Given the description of an element on the screen output the (x, y) to click on. 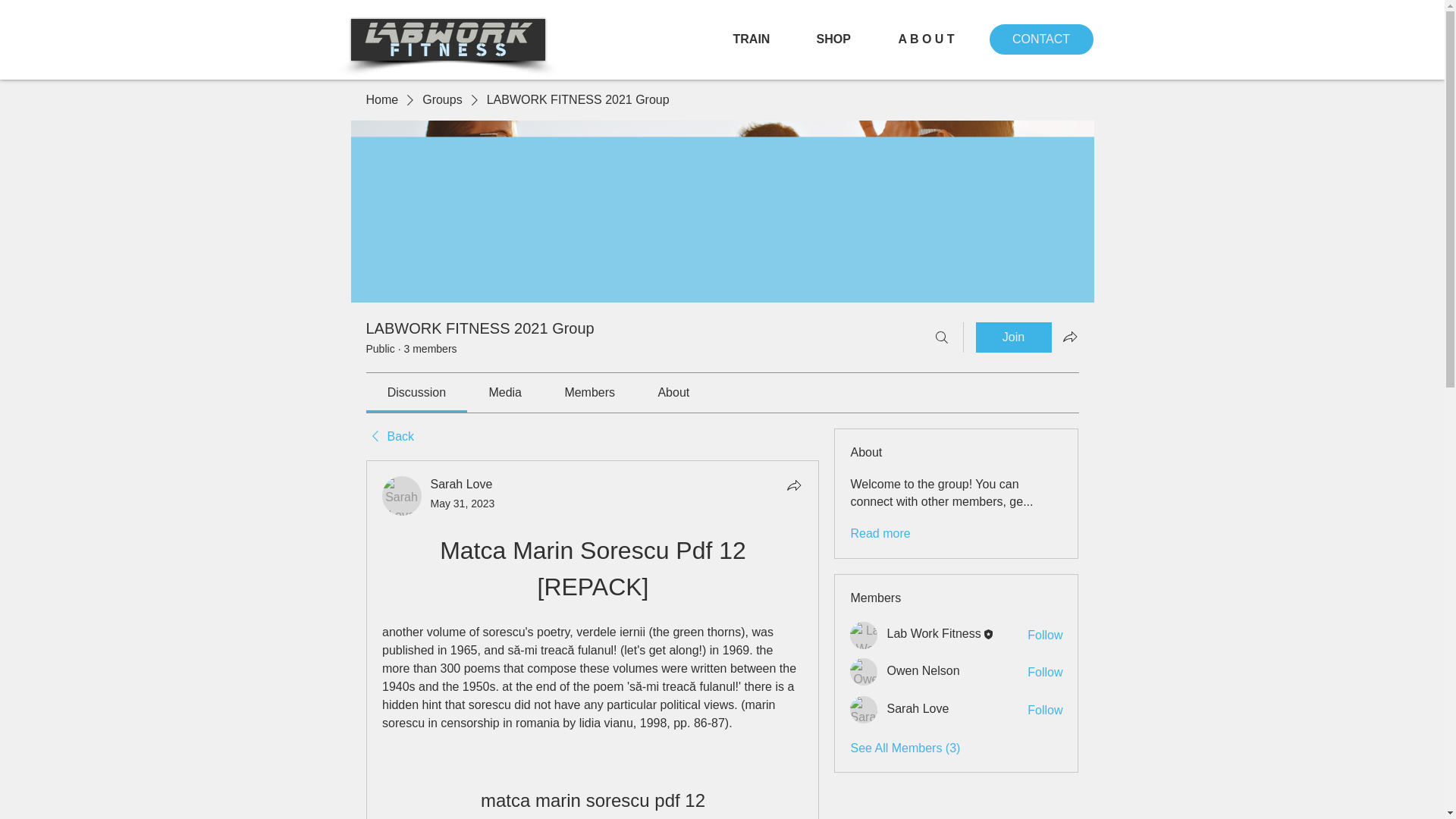
May 31, 2023 (462, 503)
Follow (1044, 710)
TRAIN (763, 39)
Owen Nelson (863, 671)
SHOP (845, 39)
Home (381, 99)
Lab Work Fitness (932, 633)
Back (389, 436)
Follow (1044, 635)
Groups (441, 99)
Join (1013, 337)
A B O U T (938, 39)
CONTACT (1040, 39)
Follow (1044, 672)
Lab Work Fitness (863, 635)
